Given the description of an element on the screen output the (x, y) to click on. 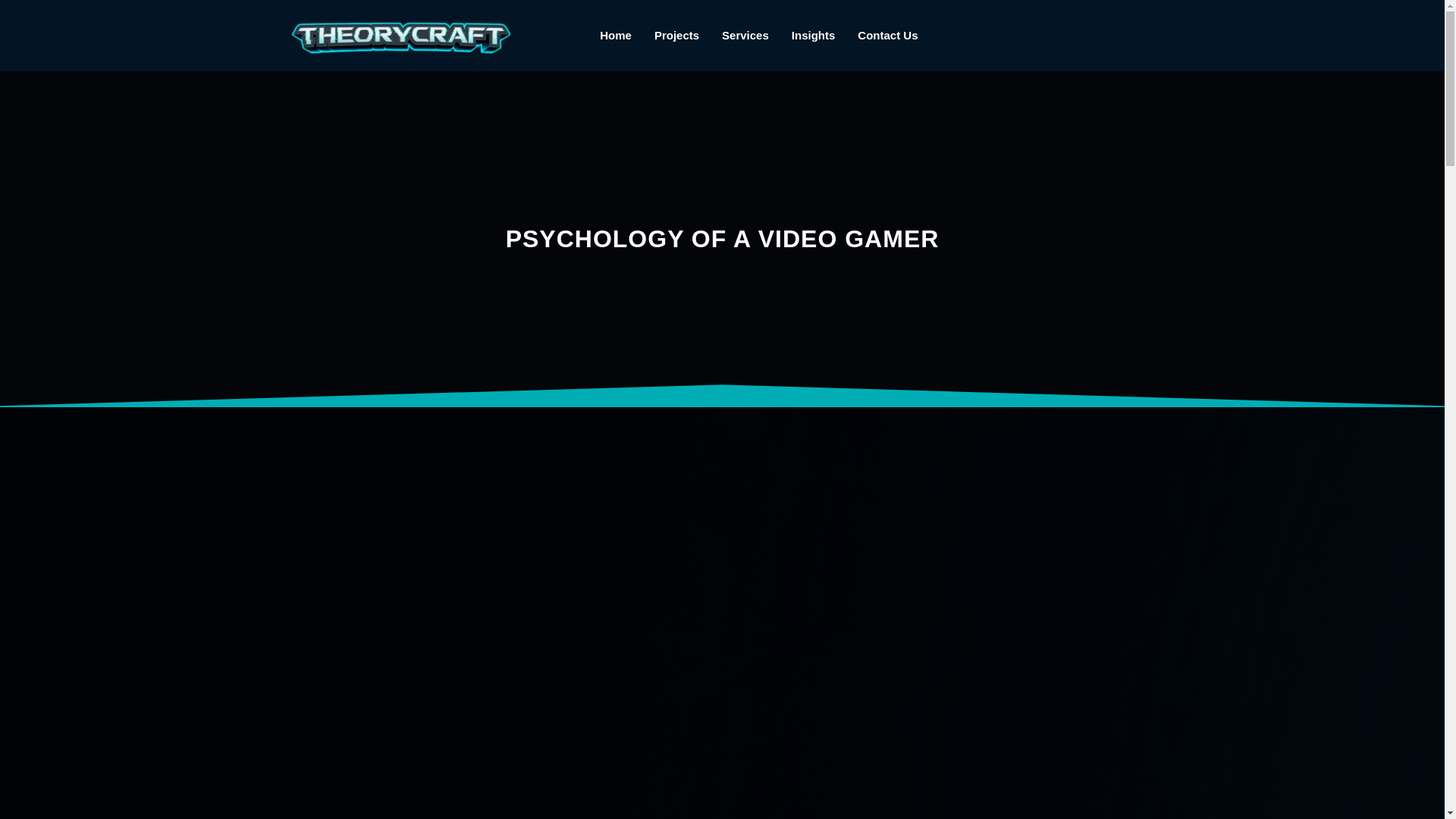
Services (745, 35)
Contact Us (886, 35)
Home (615, 35)
Projects (676, 35)
Insights (813, 35)
